Given the description of an element on the screen output the (x, y) to click on. 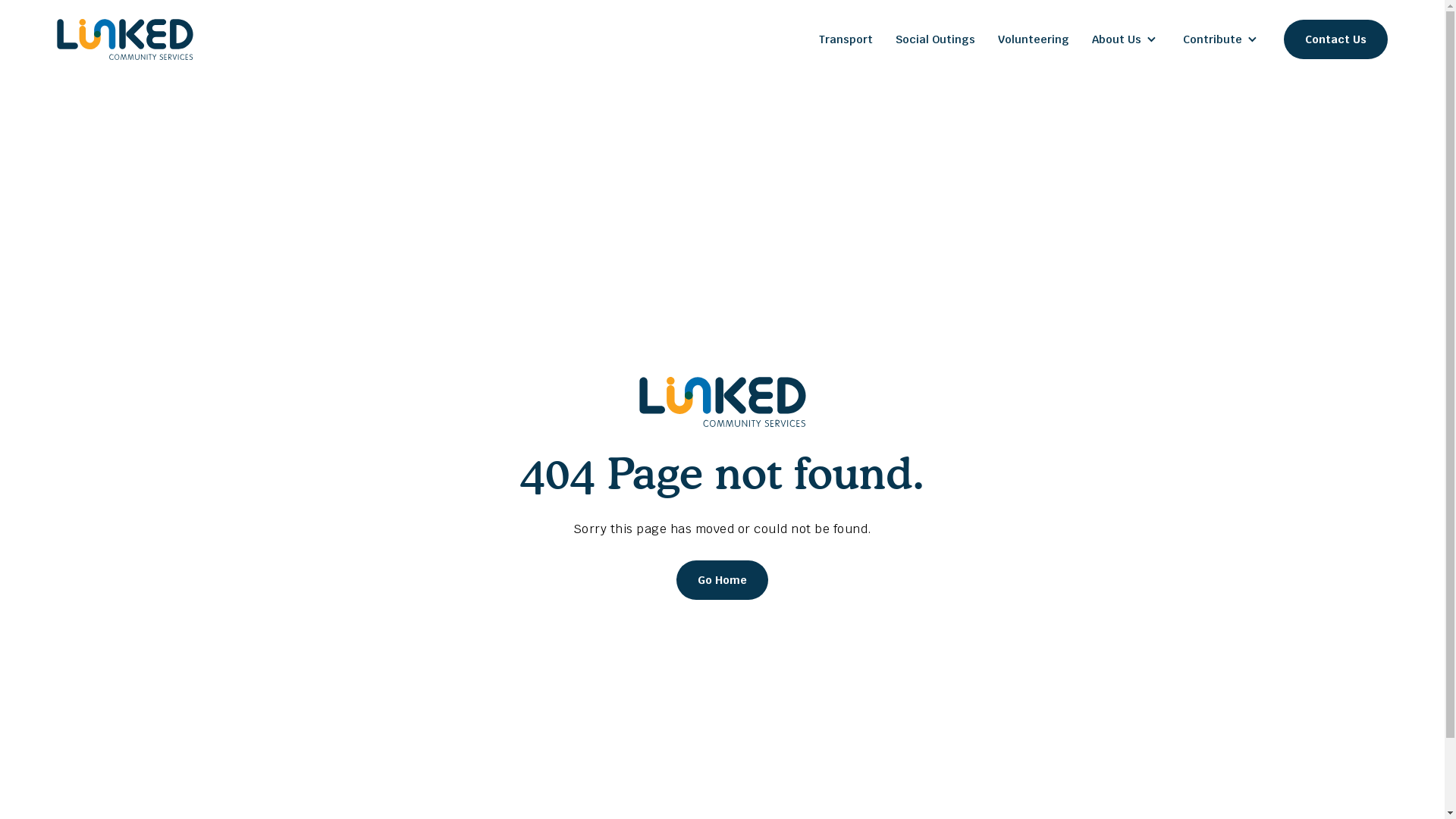
Contact Us Element type: text (1335, 39)
Go Home Element type: text (722, 579)
Transport Element type: text (845, 39)
Volunteering Element type: text (1033, 39)
Social Outings Element type: text (935, 39)
